Given the description of an element on the screen output the (x, y) to click on. 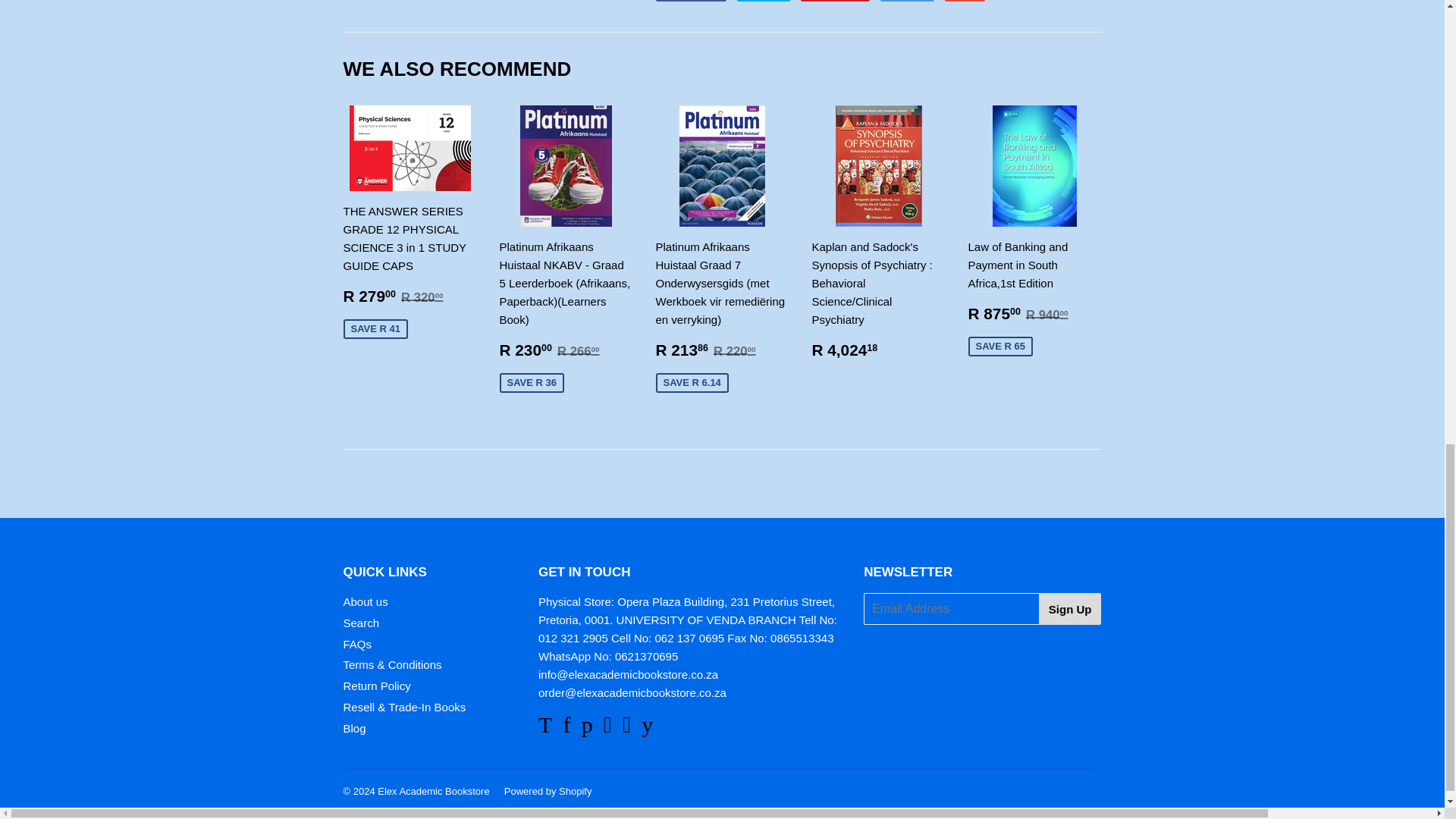
Elex Academic Bookstore on Instagram (626, 727)
Elex Academic Bookstore on Pinterest (586, 727)
Elex Academic Bookstore on Twitter (544, 727)
Elex Academic Bookstore on Facebook (566, 727)
Elex Academic Bookstore on YouTube (647, 727)
Sign Up (1070, 608)
Elex Academic Bookstore on Google (607, 727)
